Given the description of an element on the screen output the (x, y) to click on. 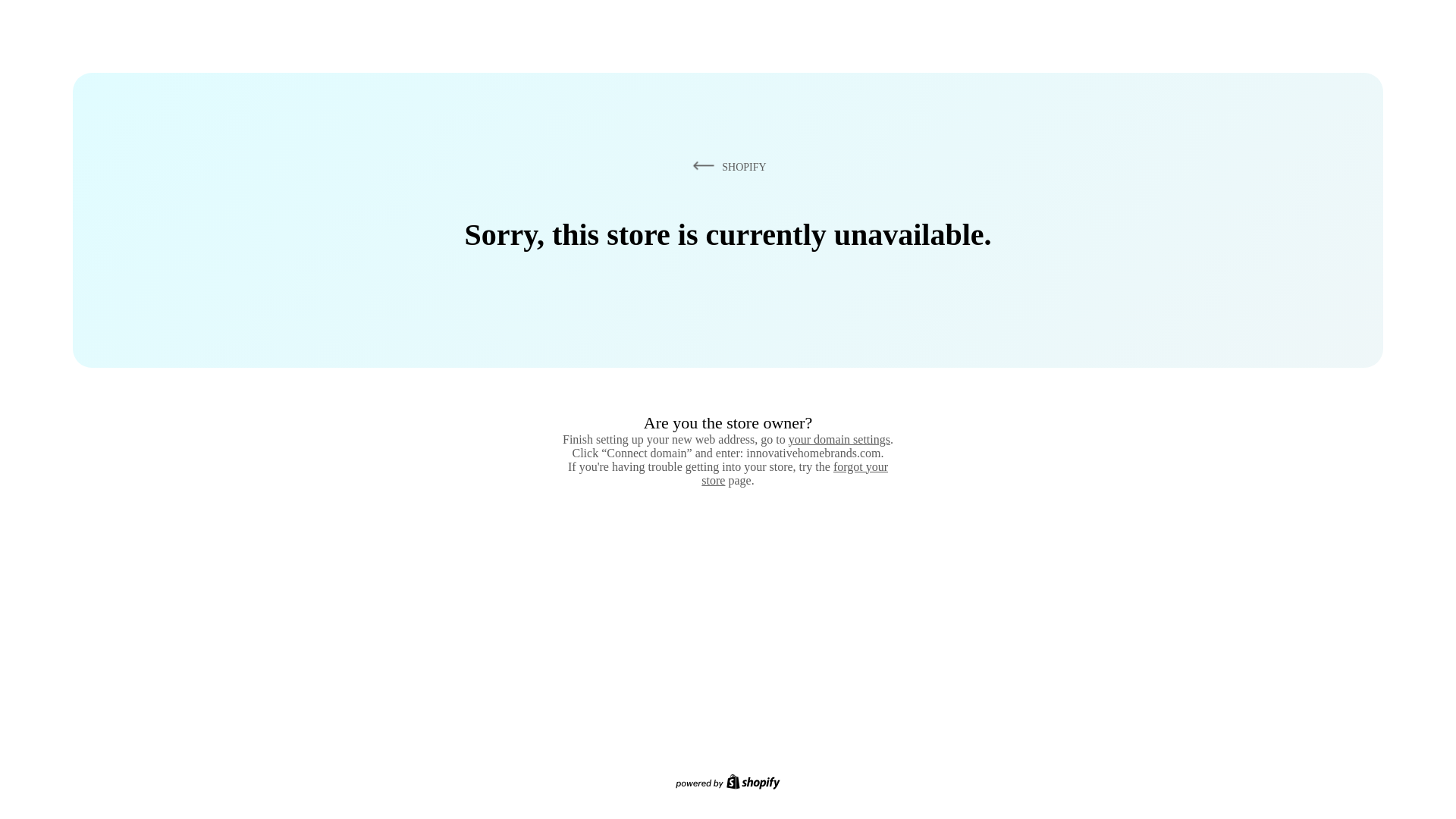
forgot your store (794, 473)
SHOPIFY (726, 166)
your domain settings (839, 439)
